Given the description of an element on the screen output the (x, y) to click on. 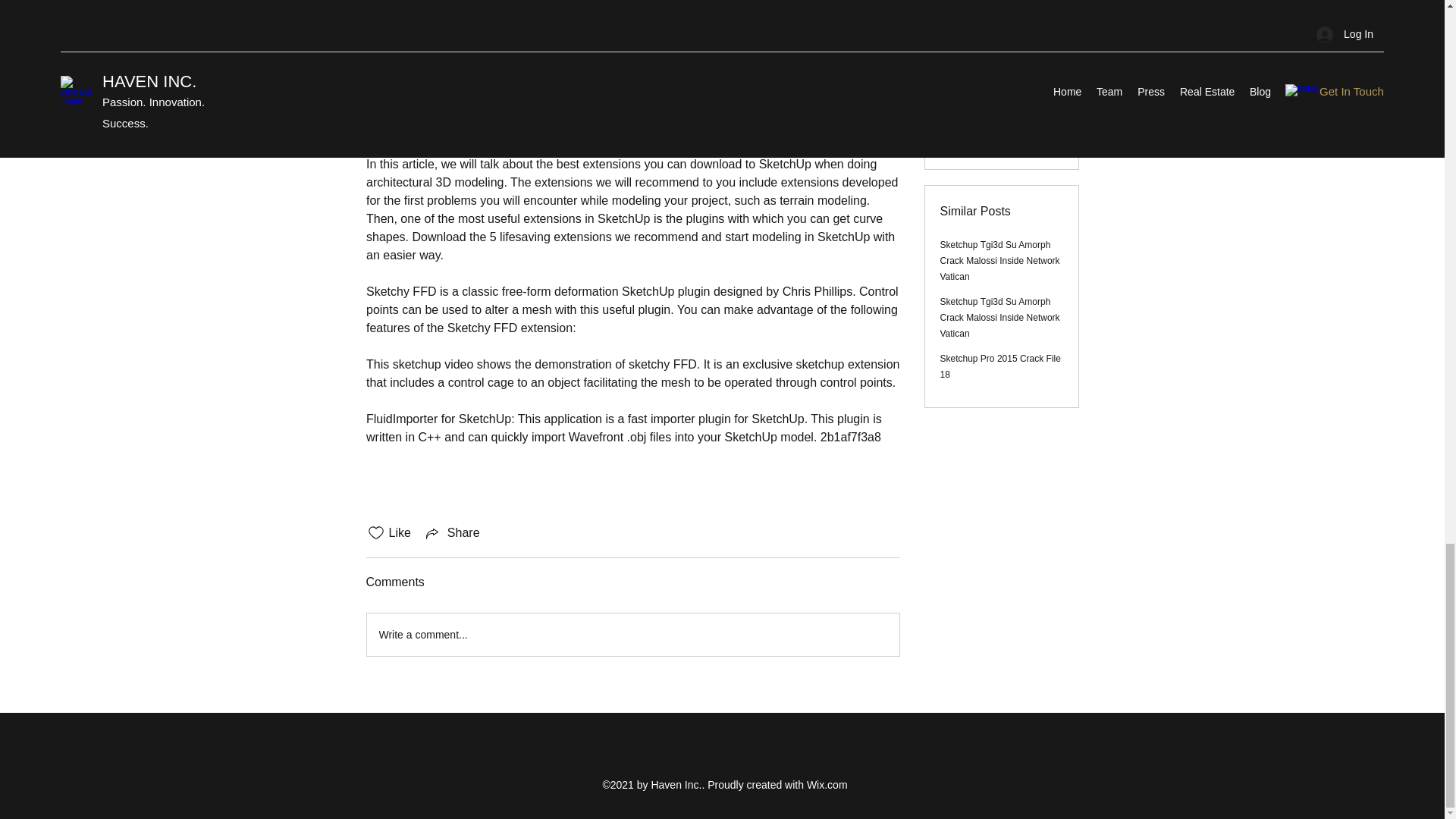
Share (451, 533)
Write a comment... (632, 634)
